Given the description of an element on the screen output the (x, y) to click on. 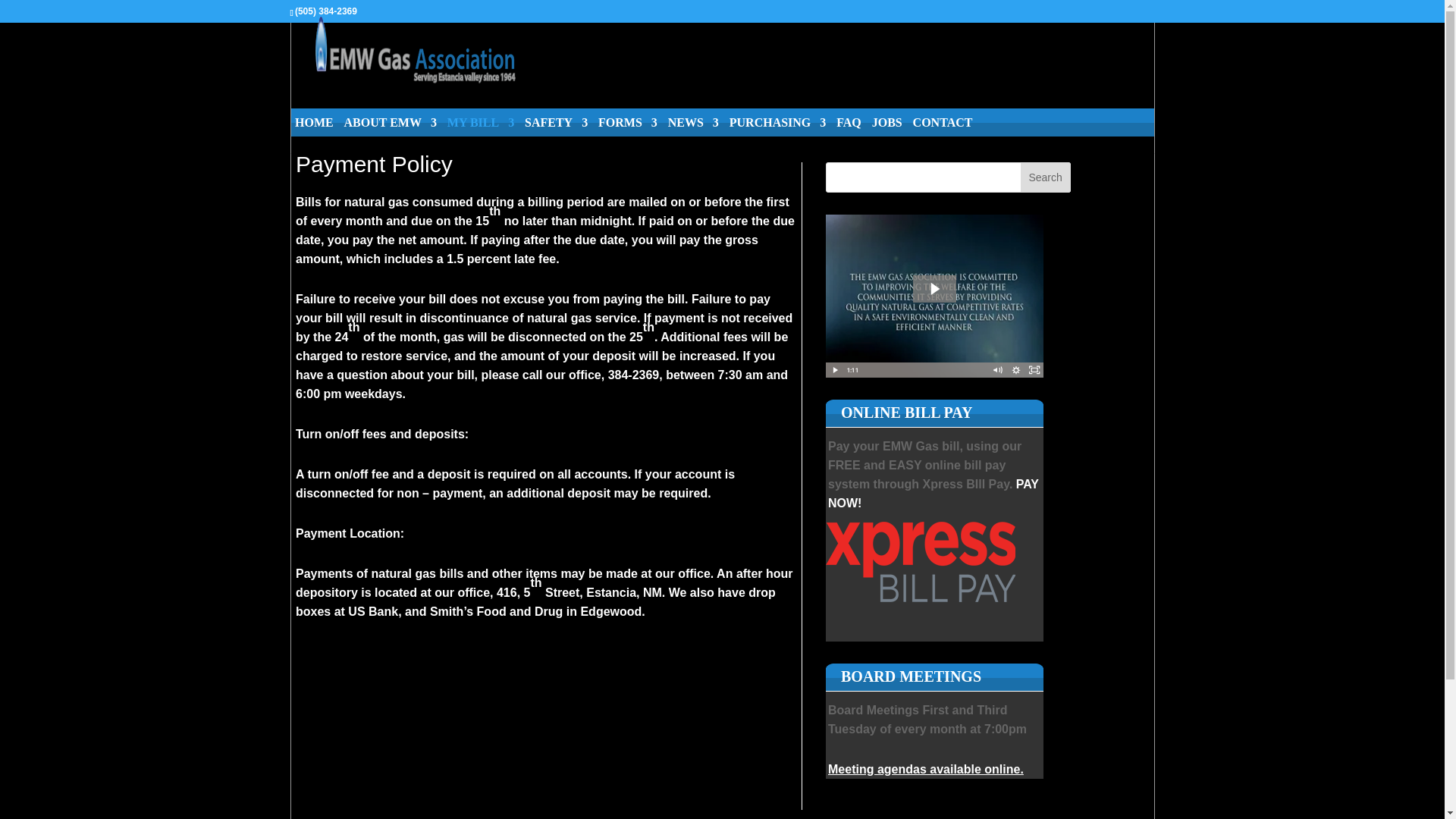
MY BILL (479, 135)
FORMS (628, 135)
Search (1045, 177)
CONTACT (942, 135)
PURCHASING (778, 135)
HOME (314, 135)
SAFETY (556, 135)
ABOUT EMW (389, 135)
NEWS (693, 135)
